Given the description of an element on the screen output the (x, y) to click on. 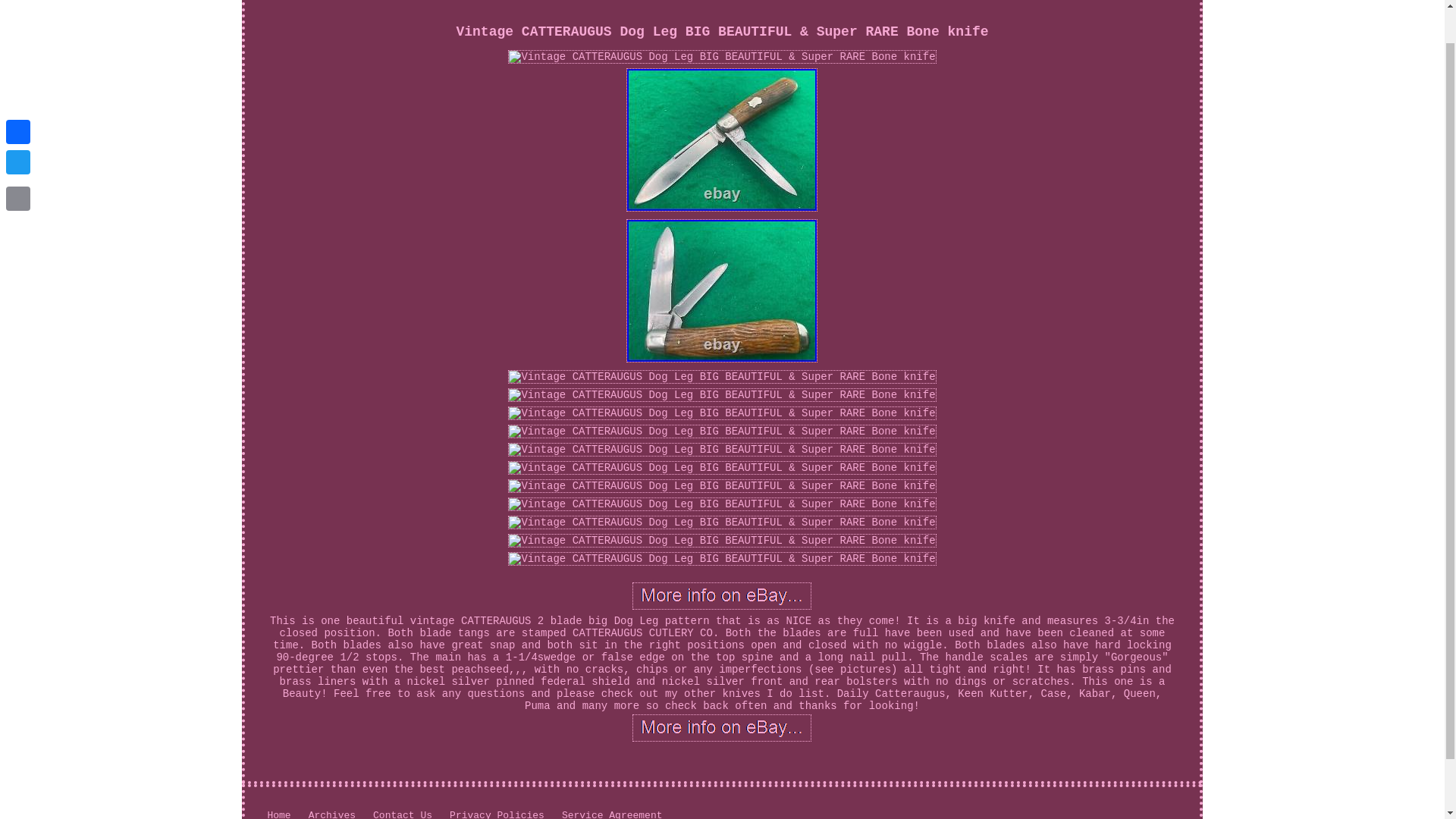
Email (17, 161)
Facebook (17, 94)
Twitter (17, 124)
